Given the description of an element on the screen output the (x, y) to click on. 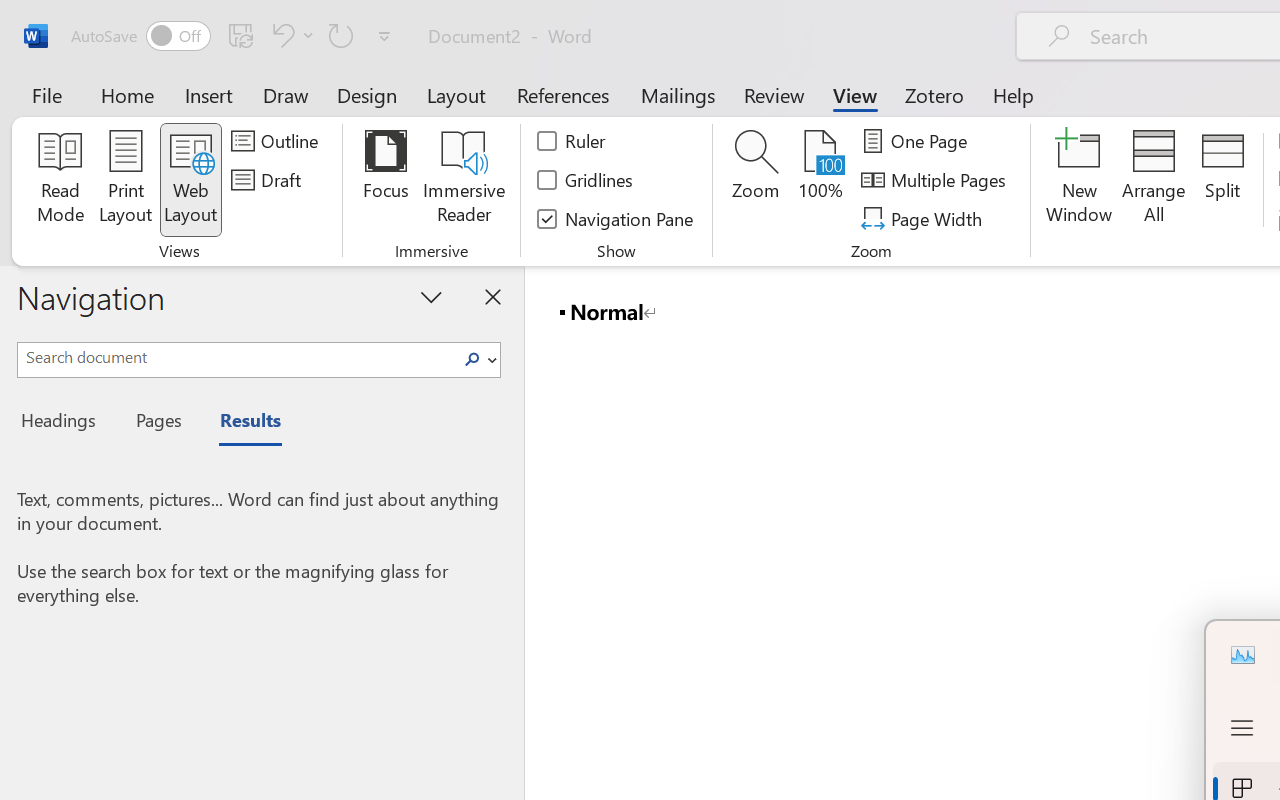
Zoom... (755, 179)
Search (478, 359)
Arrange All (1153, 179)
Outline (278, 141)
Repeat Doc Close (341, 35)
Gridlines (586, 179)
